Given the description of an element on the screen output the (x, y) to click on. 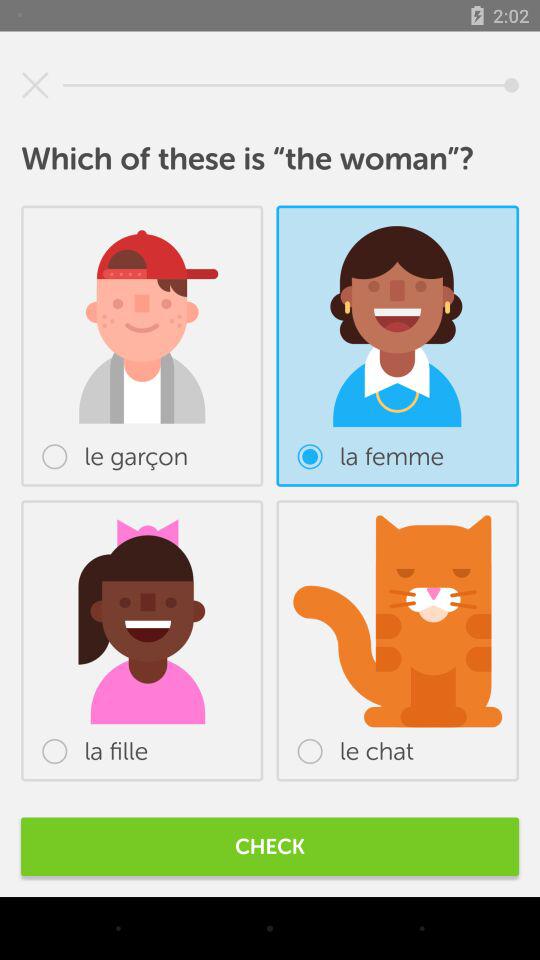
turn on icon at the top left corner (35, 85)
